Given the description of an element on the screen output the (x, y) to click on. 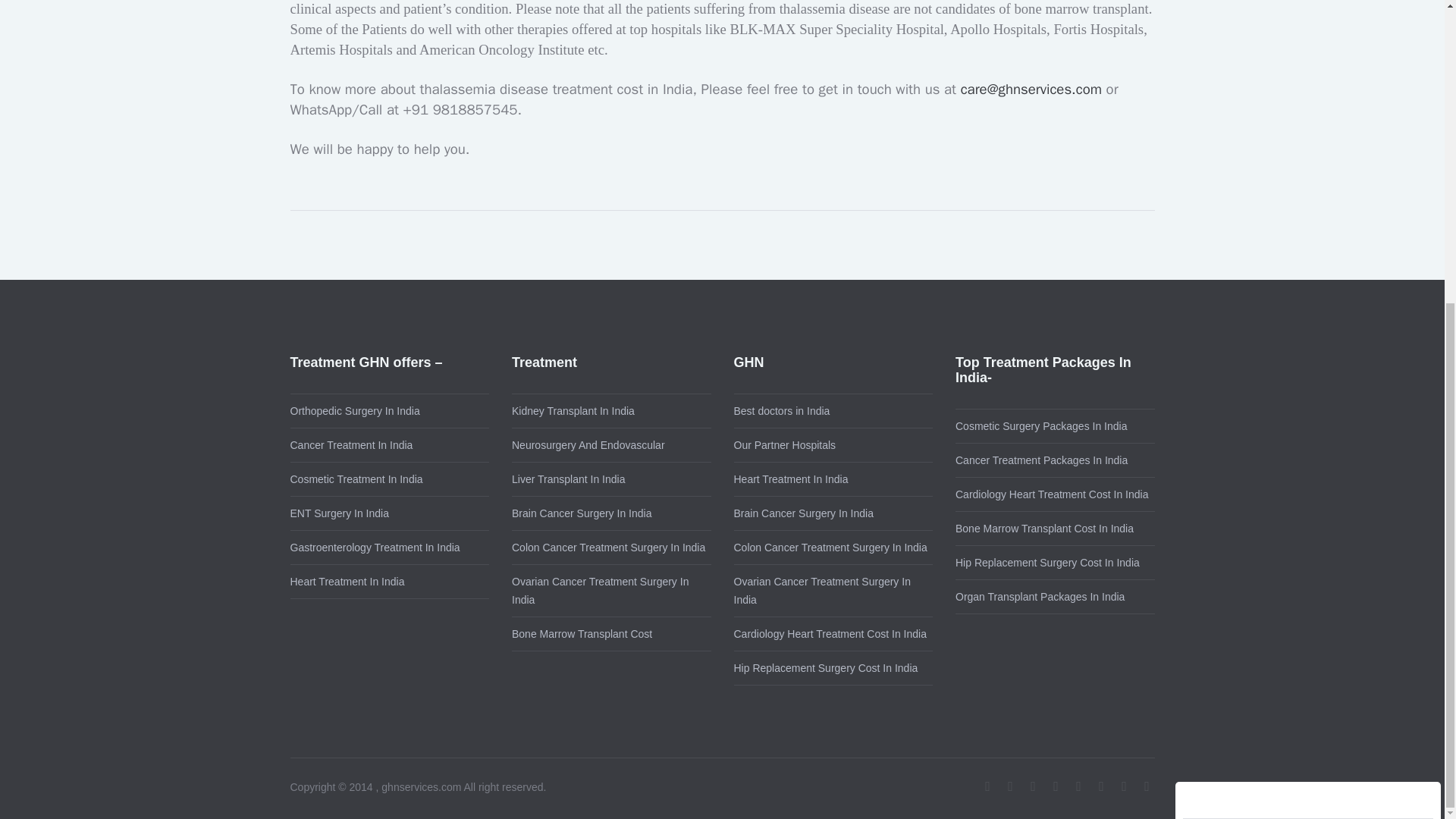
Bone Marrow Transplant Cost (582, 633)
Our Partner Hospitals (784, 444)
Ovarian Cancer Treatment Surgery In India (822, 590)
Hip Replacement Surgery Cost In India (825, 667)
Cosmetic Treatment In India (355, 479)
Colon Cancer Treatment Surgery In India (608, 547)
Neurosurgery And Endovascular (588, 444)
Kidney Transplant In India (573, 410)
Brain Cancer Surgery In India (803, 512)
Cardiology Heart Treatment Cost In India (1051, 494)
